Given the description of an element on the screen output the (x, y) to click on. 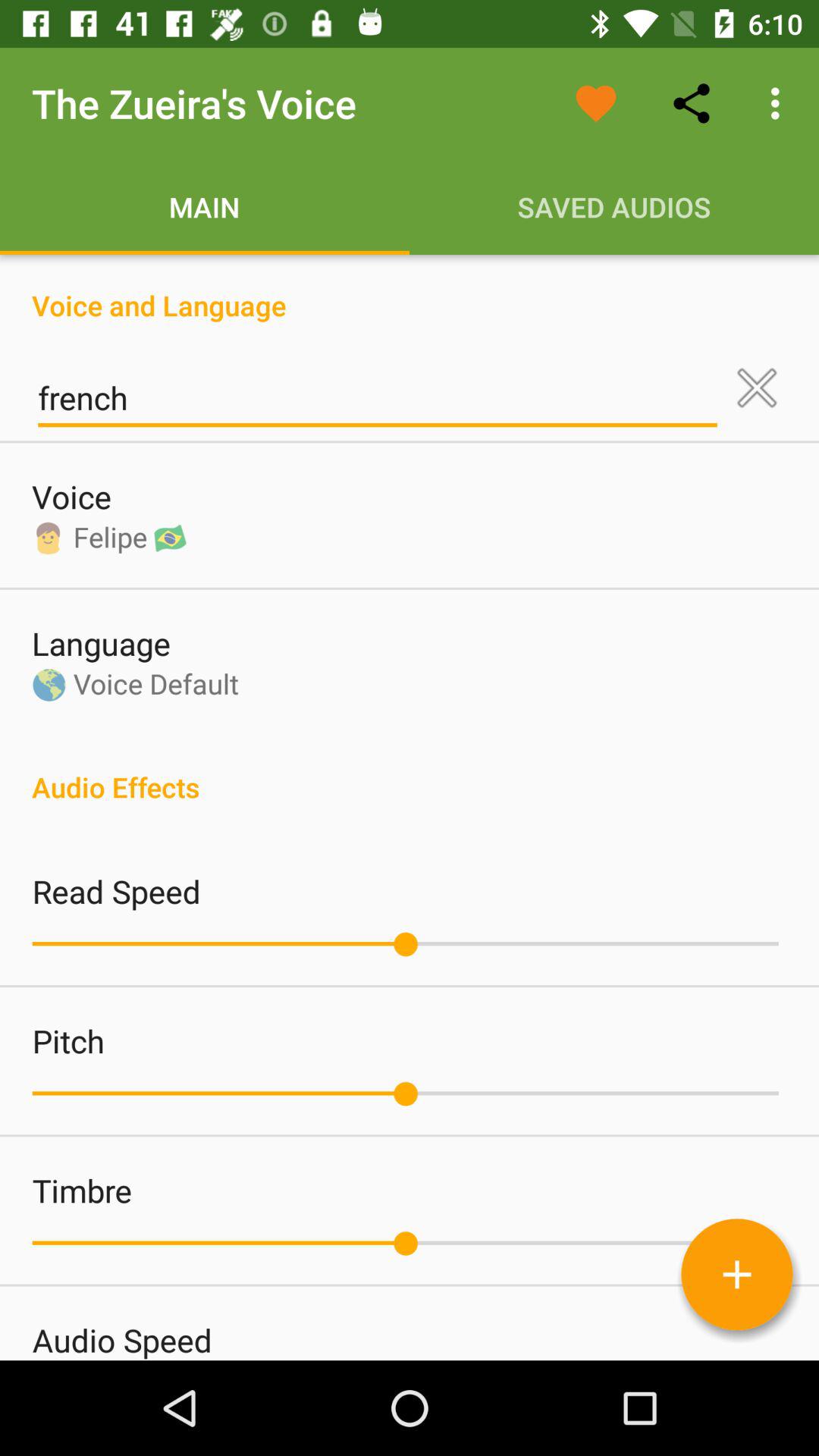
click the icon above saved audios (595, 103)
